Given the description of an element on the screen output the (x, y) to click on. 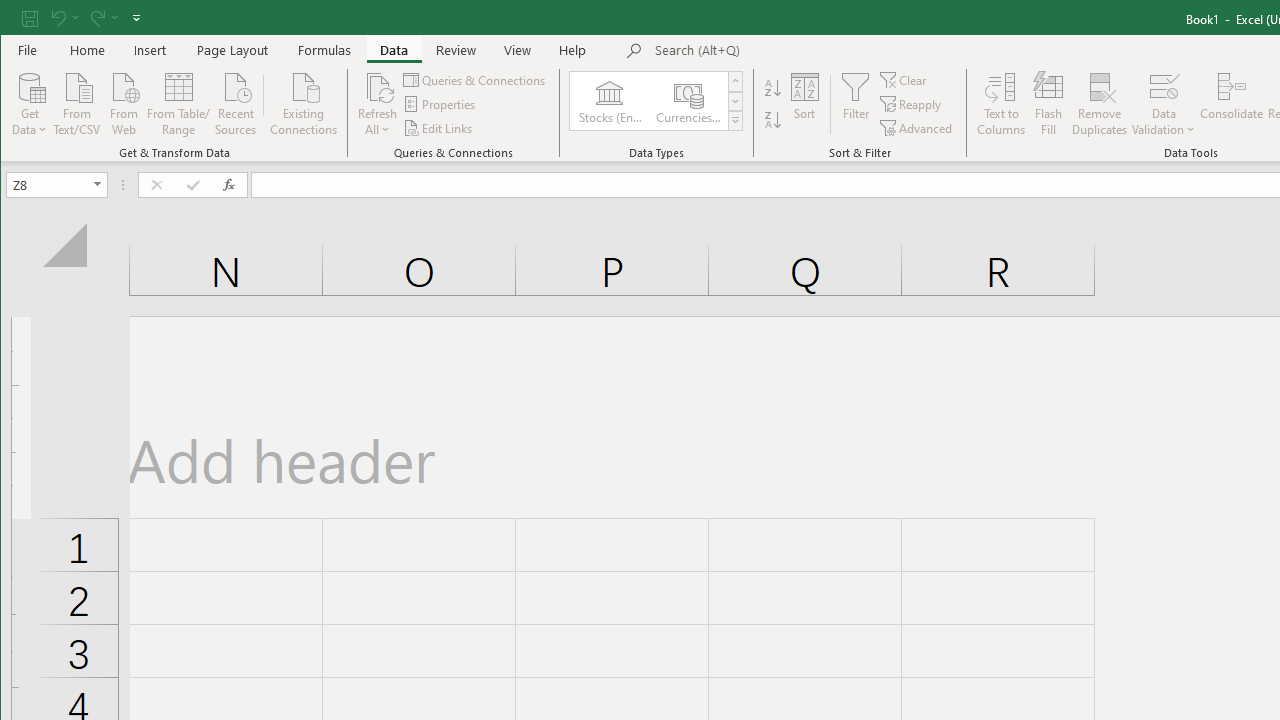
More Options (1164, 123)
Row up (735, 81)
Class: NetUIImage (735, 120)
Flash Fill (1048, 104)
From Web (123, 101)
Quick Access Toolbar (83, 17)
Data Validation... (1164, 104)
Data (394, 50)
Row Down (735, 101)
Sort Z to A (772, 119)
